Given the description of an element on the screen output the (x, y) to click on. 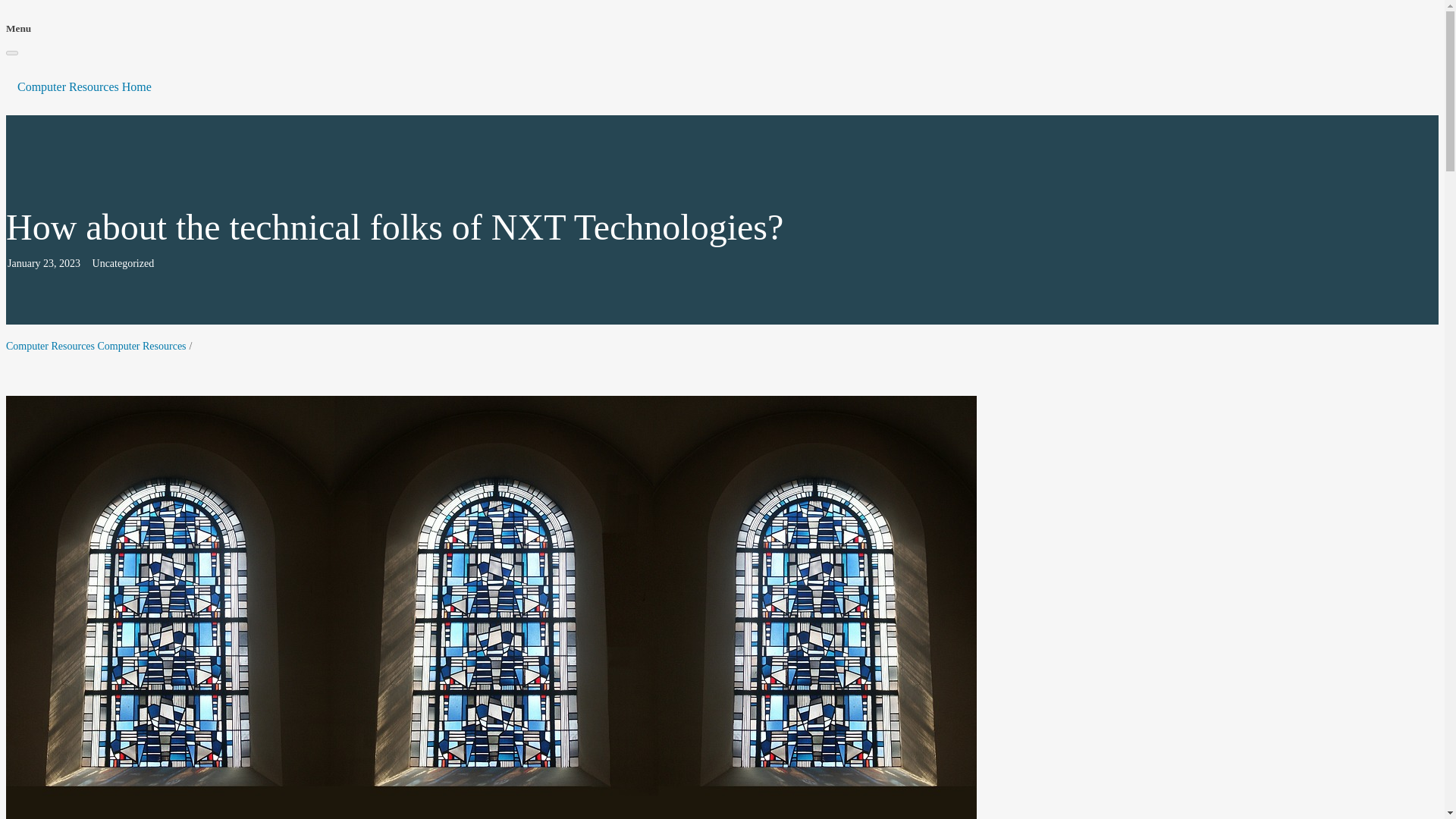
January (23, 263)
2023 (69, 263)
23 (48, 263)
Computer Resources Computer Resources (95, 346)
